Given the description of an element on the screen output the (x, y) to click on. 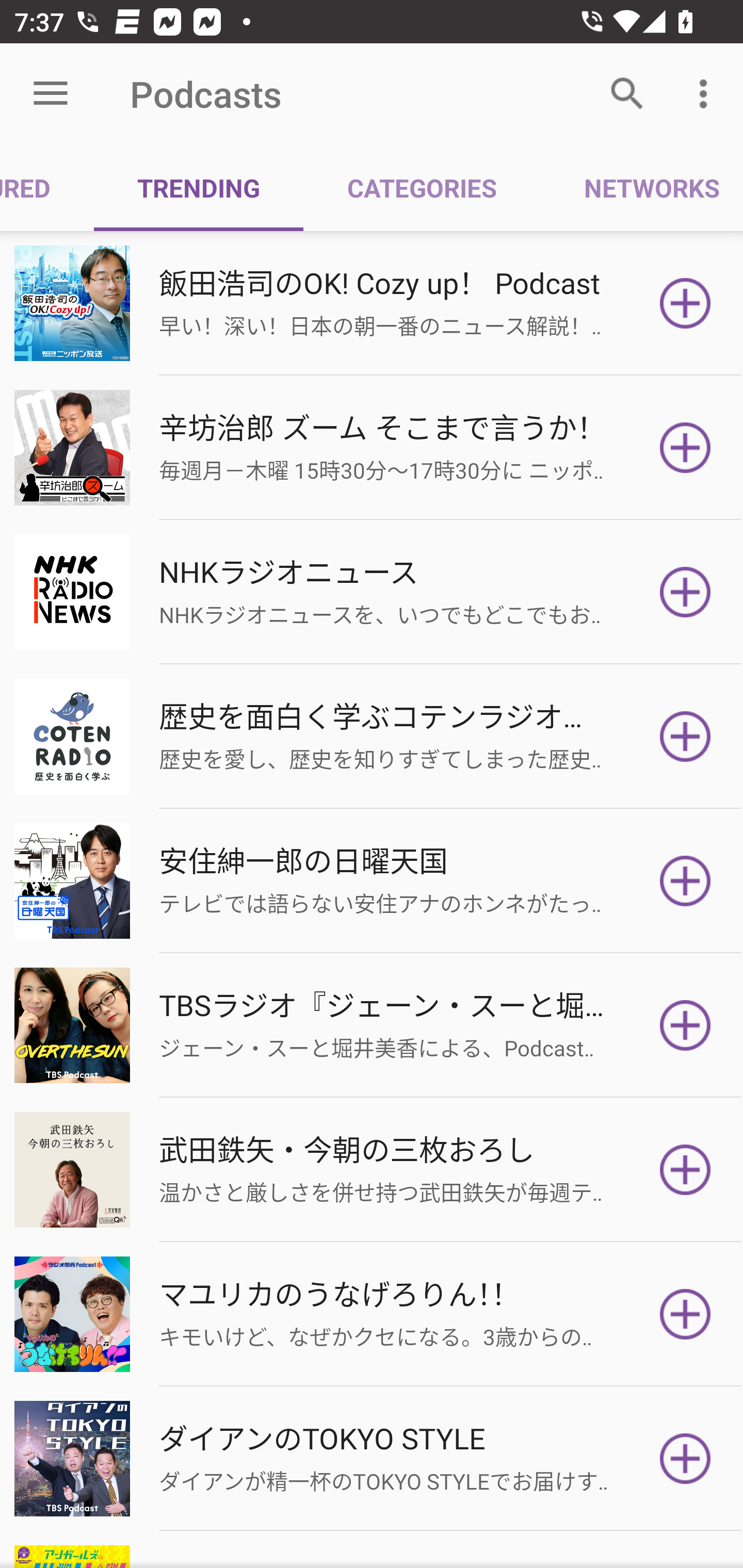
Open menu (50, 93)
Search (626, 93)
More options (706, 93)
TRENDING (198, 187)
CATEGORIES (421, 187)
NETWORKS (641, 187)
Subscribe (685, 303)
Subscribe (685, 447)
Subscribe (685, 591)
Subscribe (685, 736)
Subscribe (685, 881)
Subscribe (685, 1025)
Subscribe (685, 1169)
Subscribe (685, 1313)
Subscribe (685, 1458)
